Given the description of an element on the screen output the (x, y) to click on. 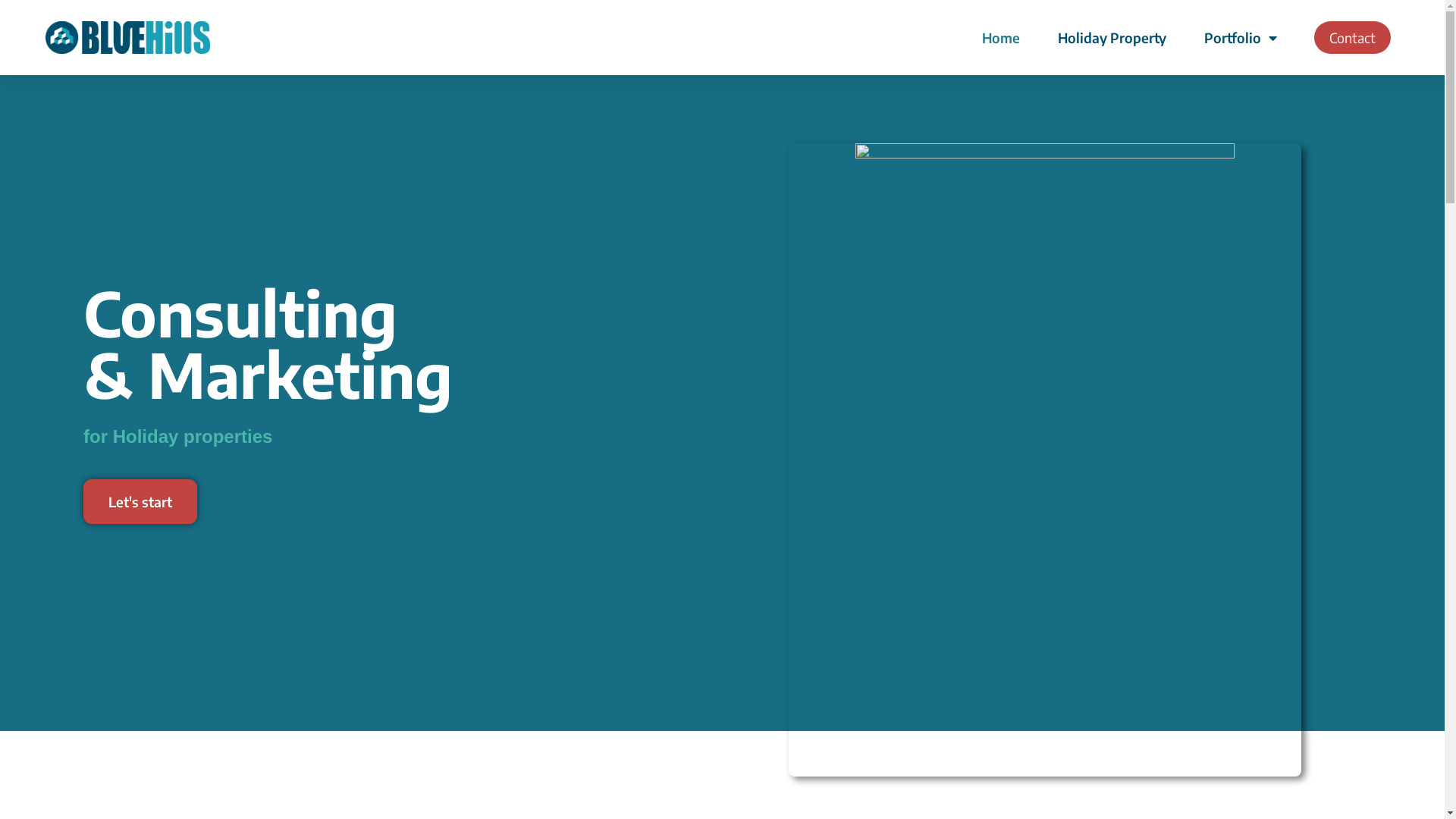
Holiday Property Element type: text (1111, 37)
Portfolio Element type: text (1240, 37)
Contact Element type: text (1352, 37)
Let's start Element type: text (140, 501)
Home Element type: text (1000, 37)
